Given the description of an element on the screen output the (x, y) to click on. 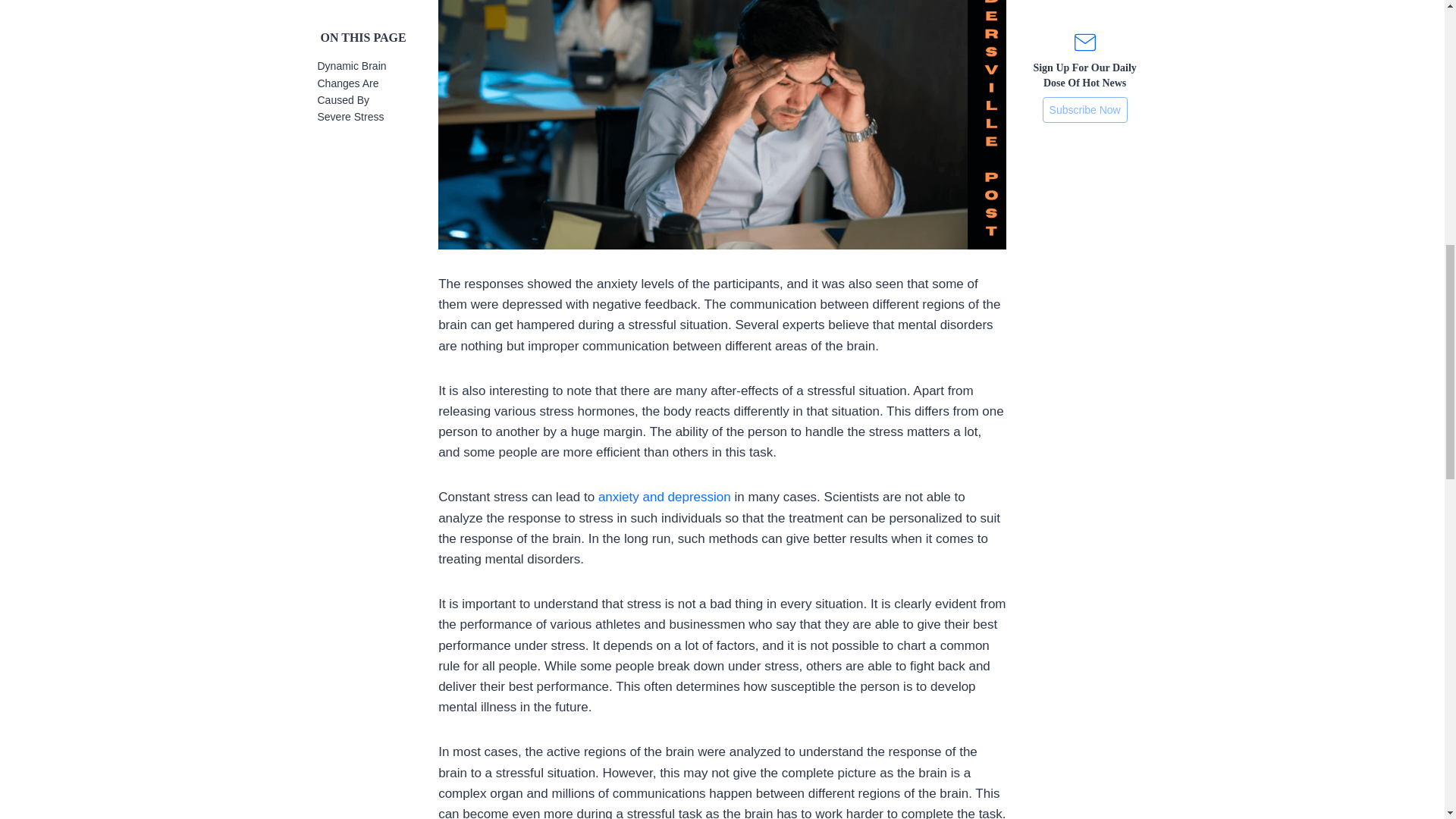
anxiety and depression (662, 496)
